Given the description of an element on the screen output the (x, y) to click on. 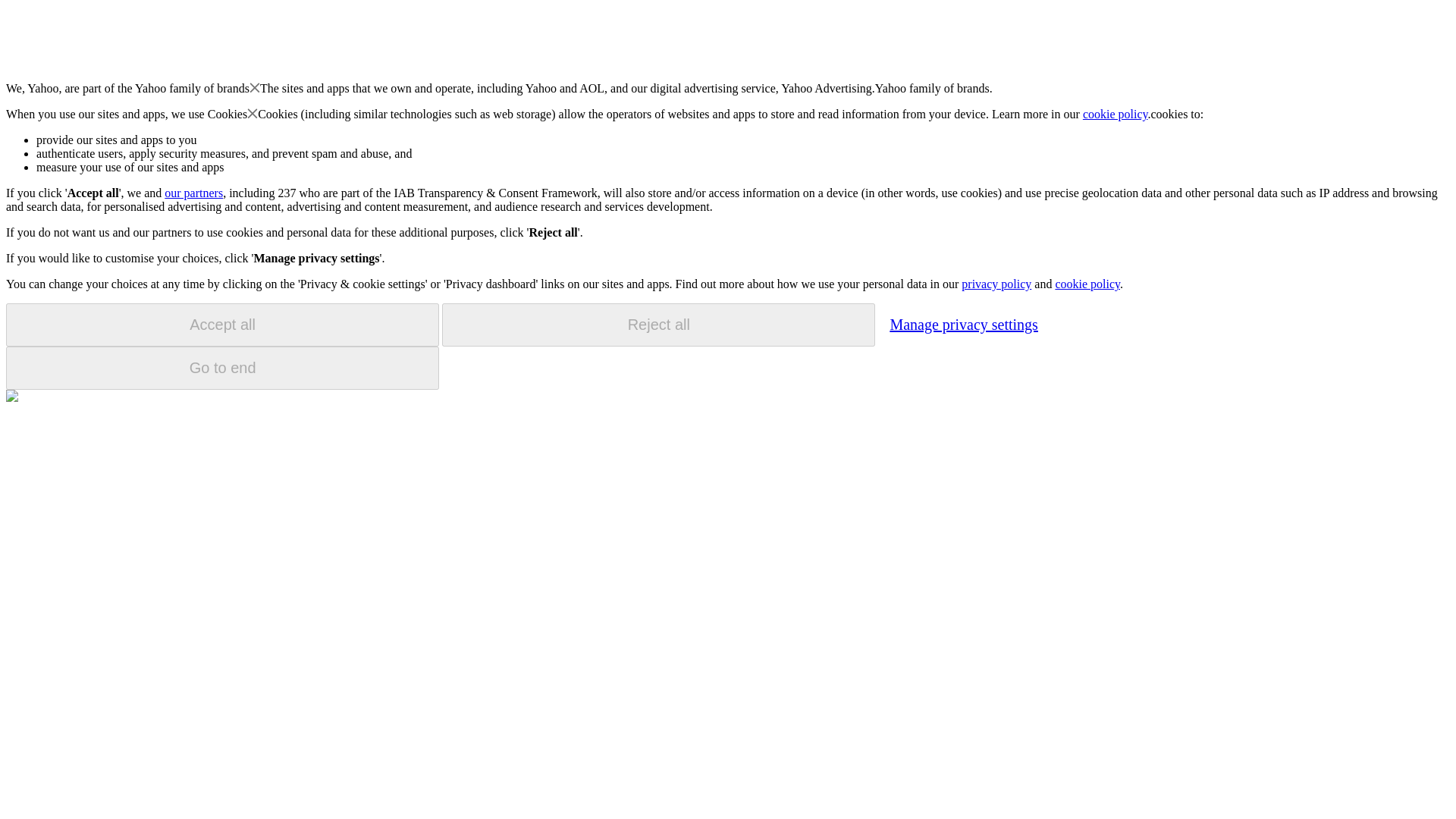
cookie policy (1115, 113)
Accept all (222, 324)
Manage privacy settings (963, 323)
cookie policy (1086, 283)
privacy policy (995, 283)
Go to end (222, 367)
Reject all (658, 324)
our partners (193, 192)
